Given the description of an element on the screen output the (x, y) to click on. 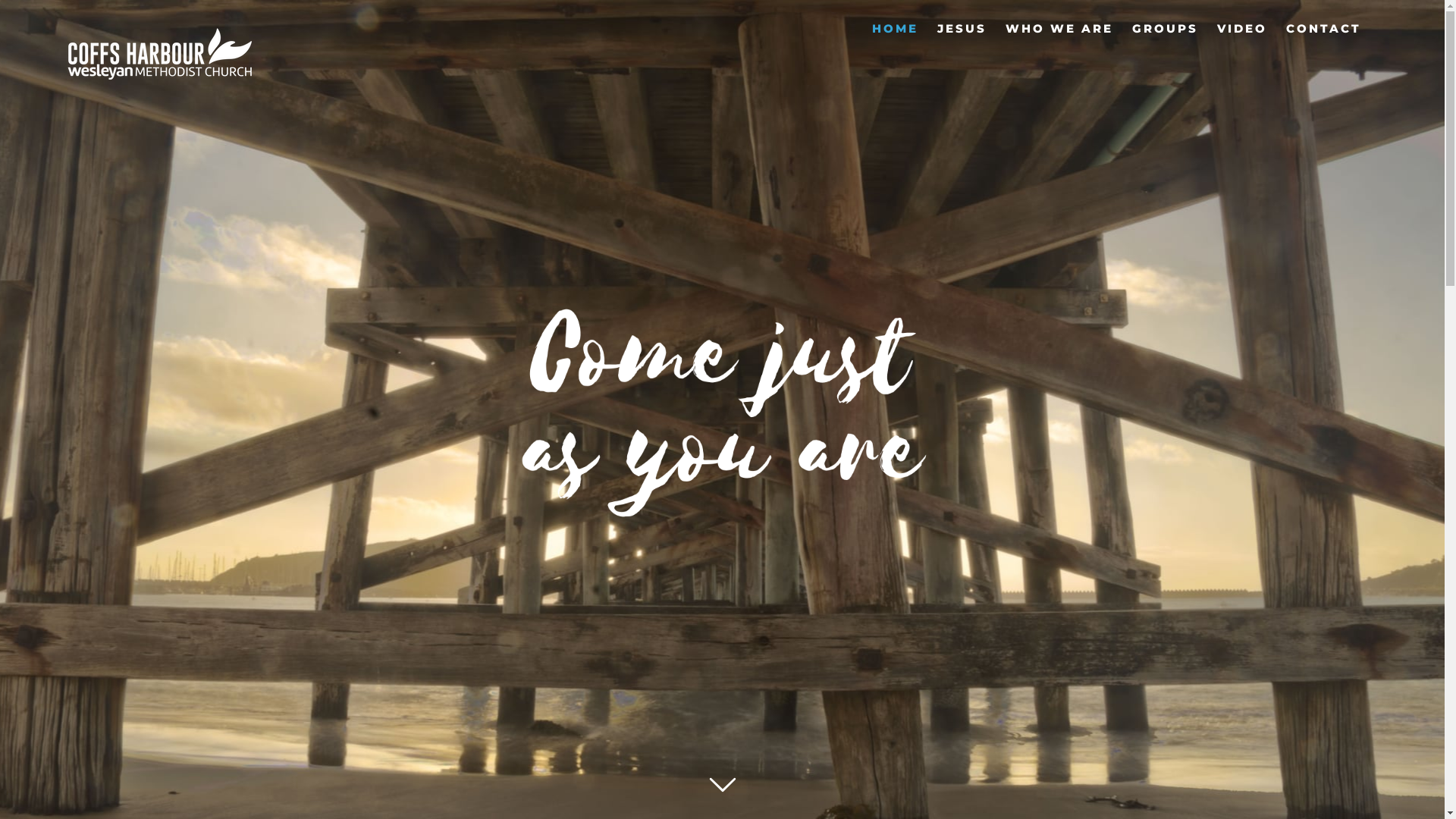
WHO WE ARE Element type: text (1059, 27)
Bringing Hope For Pakenham Element type: hover (721, 403)
JESUS Element type: text (961, 27)
HOME Element type: text (895, 27)
GROUPS Element type: text (1165, 27)
CONTACT Element type: text (1323, 27)
VIDEO Element type: text (1242, 27)
